Given the description of an element on the screen output the (x, y) to click on. 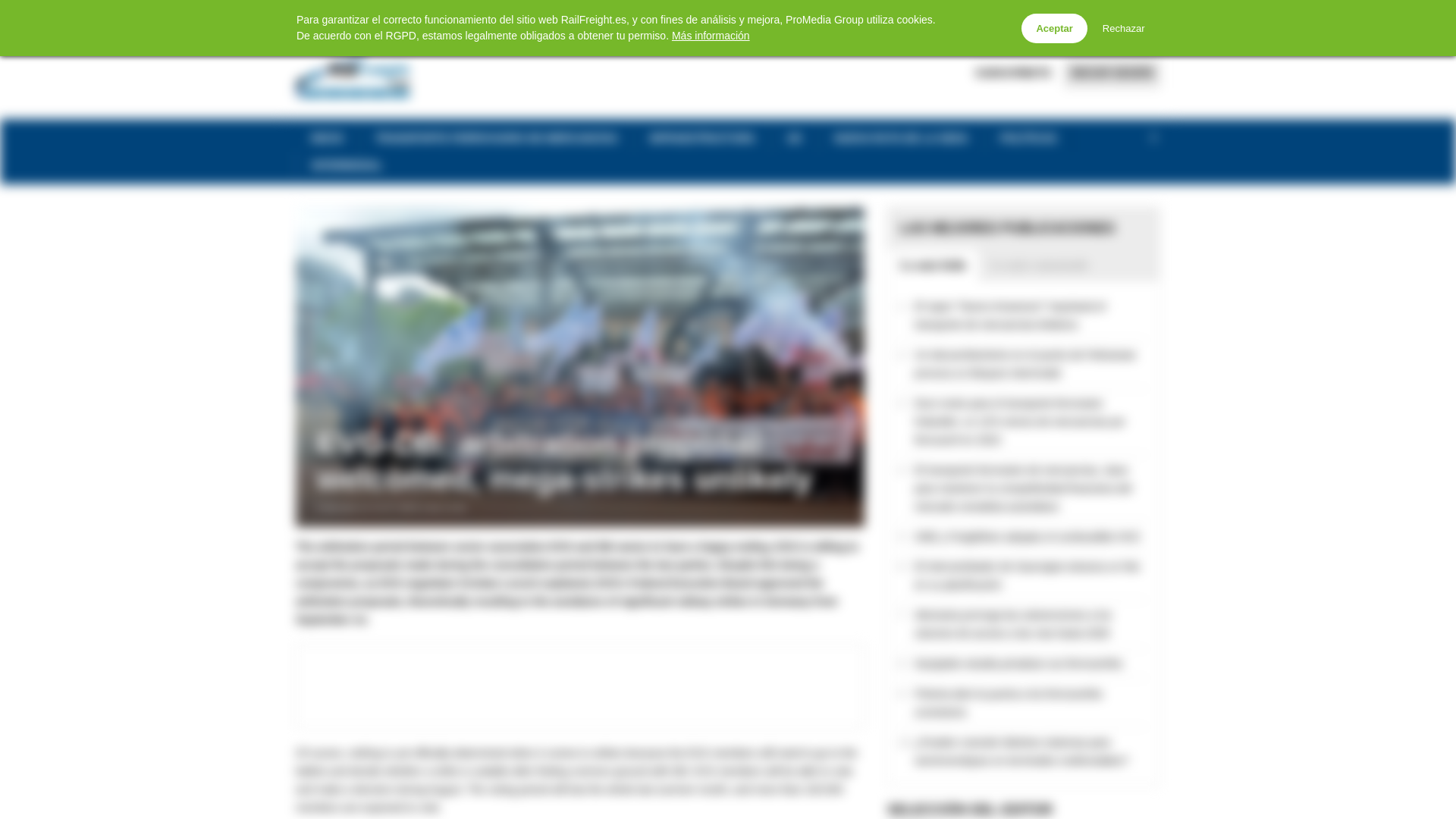
RailFreight.com (904, 12)
Home (303, 13)
NUEVA RUTA DE LA SEDA (901, 137)
RailFreight.pl (982, 12)
INFRAESTRUCTURA (701, 137)
3rd party ad content (580, 685)
RailTech.com (1054, 12)
INICIO (327, 137)
UK (794, 137)
RailFreight.cn (1127, 12)
INTERMODAL (346, 165)
